Given the description of an element on the screen output the (x, y) to click on. 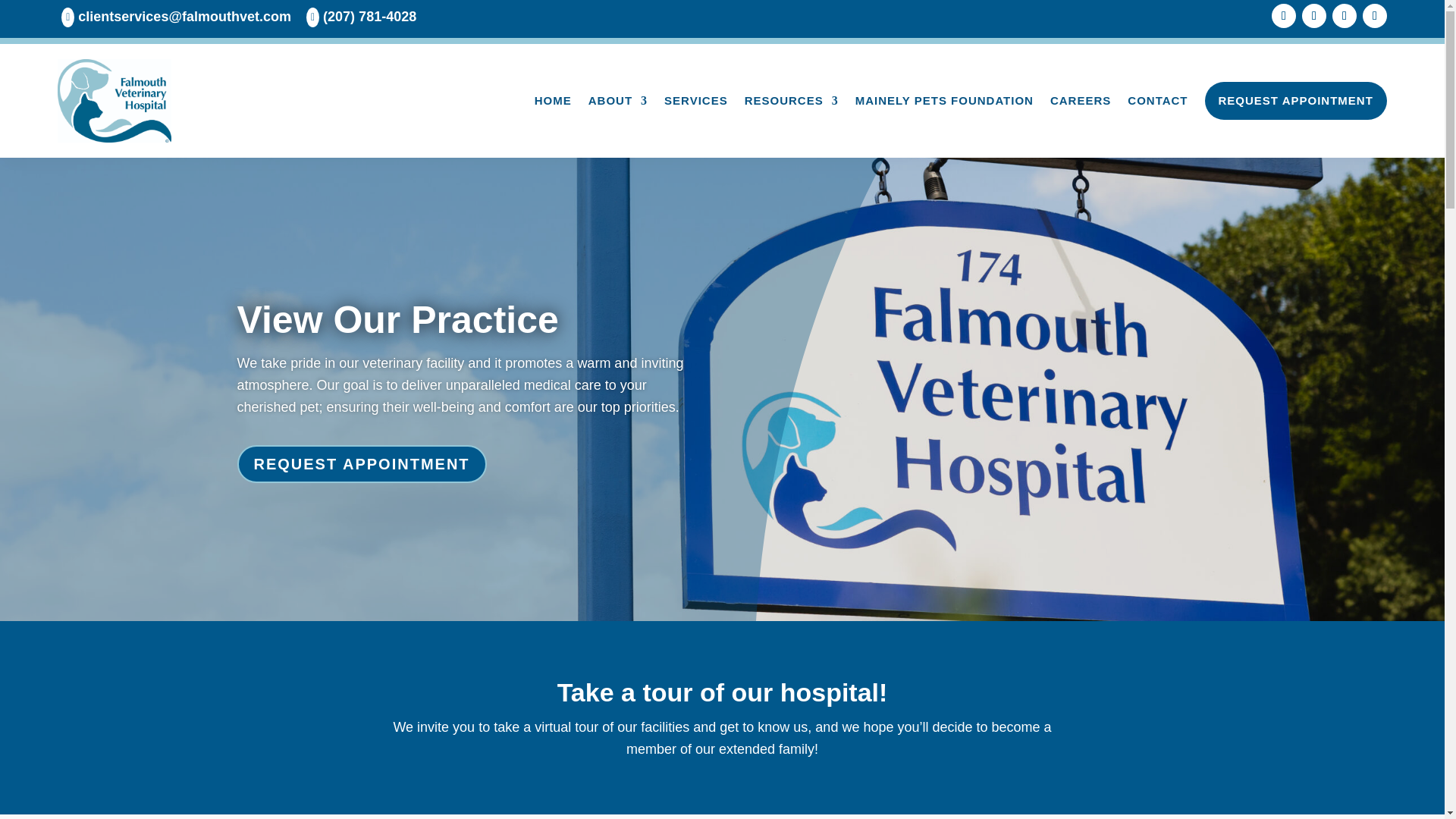
HOME (553, 100)
RESOURCES (791, 100)
Follow on Pinterest (1344, 15)
Follow on Facebook (1283, 15)
ABOUT (617, 100)
CONTACT (1157, 100)
CAREERS (1079, 100)
REQUEST APPOINTMENT (1296, 100)
Follow on Instagram (1374, 15)
Follow on X (1313, 15)
SERVICES (695, 100)
MAINELY PETS FOUNDATION (944, 100)
